Given the description of an element on the screen output the (x, y) to click on. 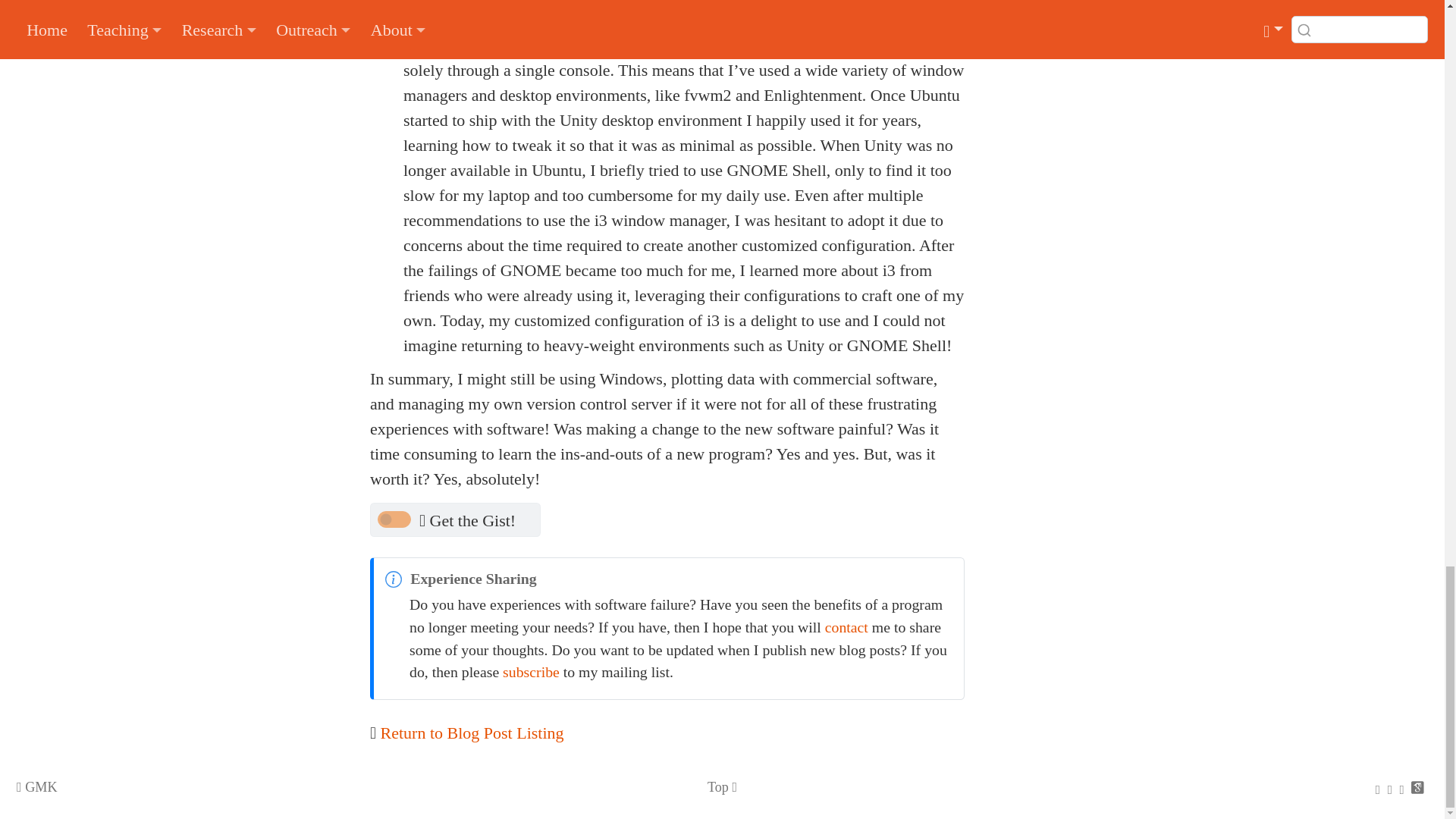
subscribe (530, 671)
contact (846, 627)
Top (721, 786)
on (393, 519)
Return to Blog Post Listing (472, 732)
